Given the description of an element on the screen output the (x, y) to click on. 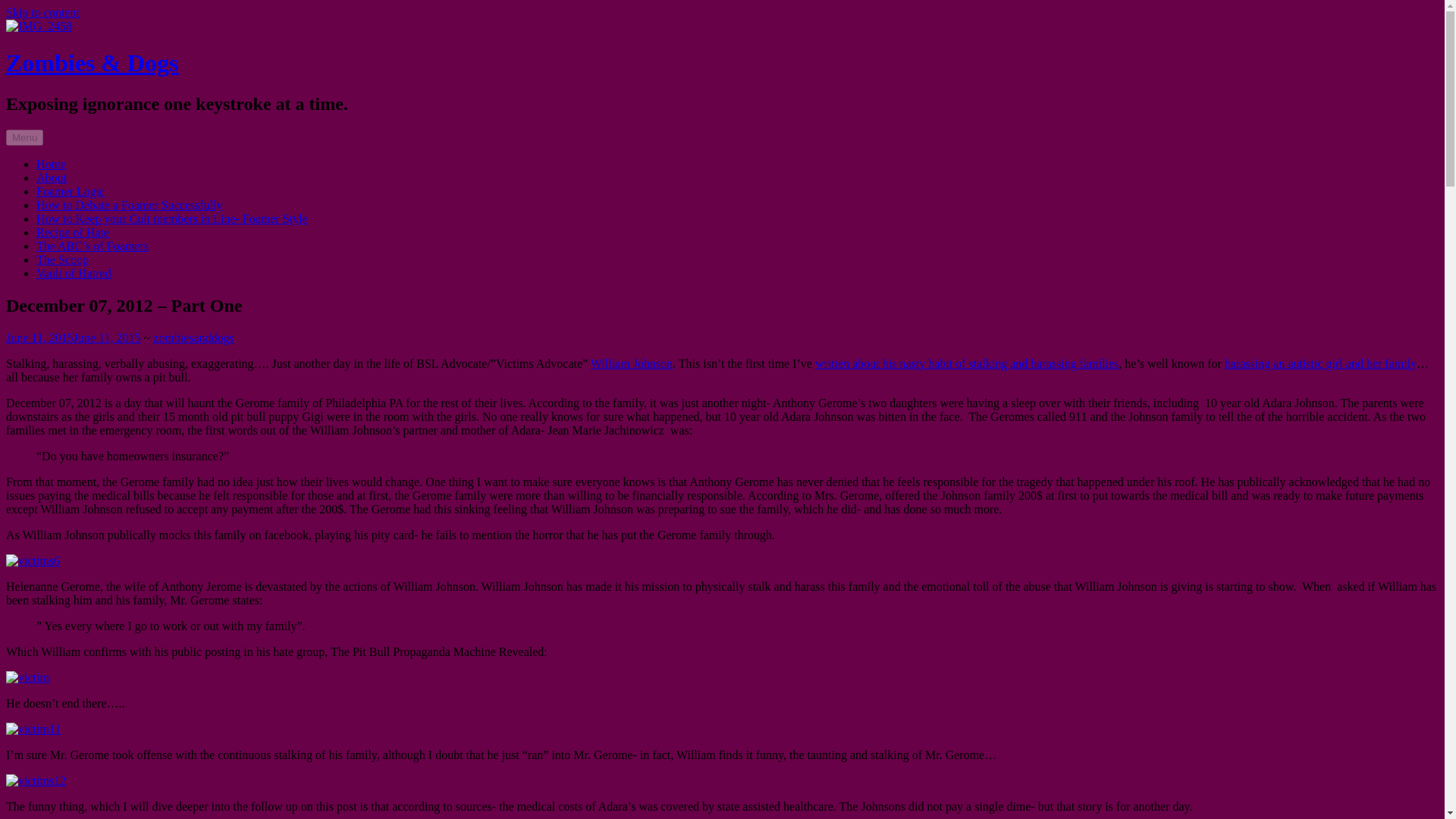
Menu (24, 137)
harassing an (1256, 363)
About (51, 177)
Skip to content (42, 11)
zombiesanddogs (193, 337)
Recipe of Hate (72, 232)
Vault of Hatred (74, 273)
William Johnson (631, 363)
The Scoop (62, 259)
June 11, 2015June 11, 2015 (72, 337)
Home (50, 164)
autistic girl and her family (1351, 363)
Foamer Logic (70, 191)
How to Debate a Foamer Successfully (129, 205)
